Given the description of an element on the screen output the (x, y) to click on. 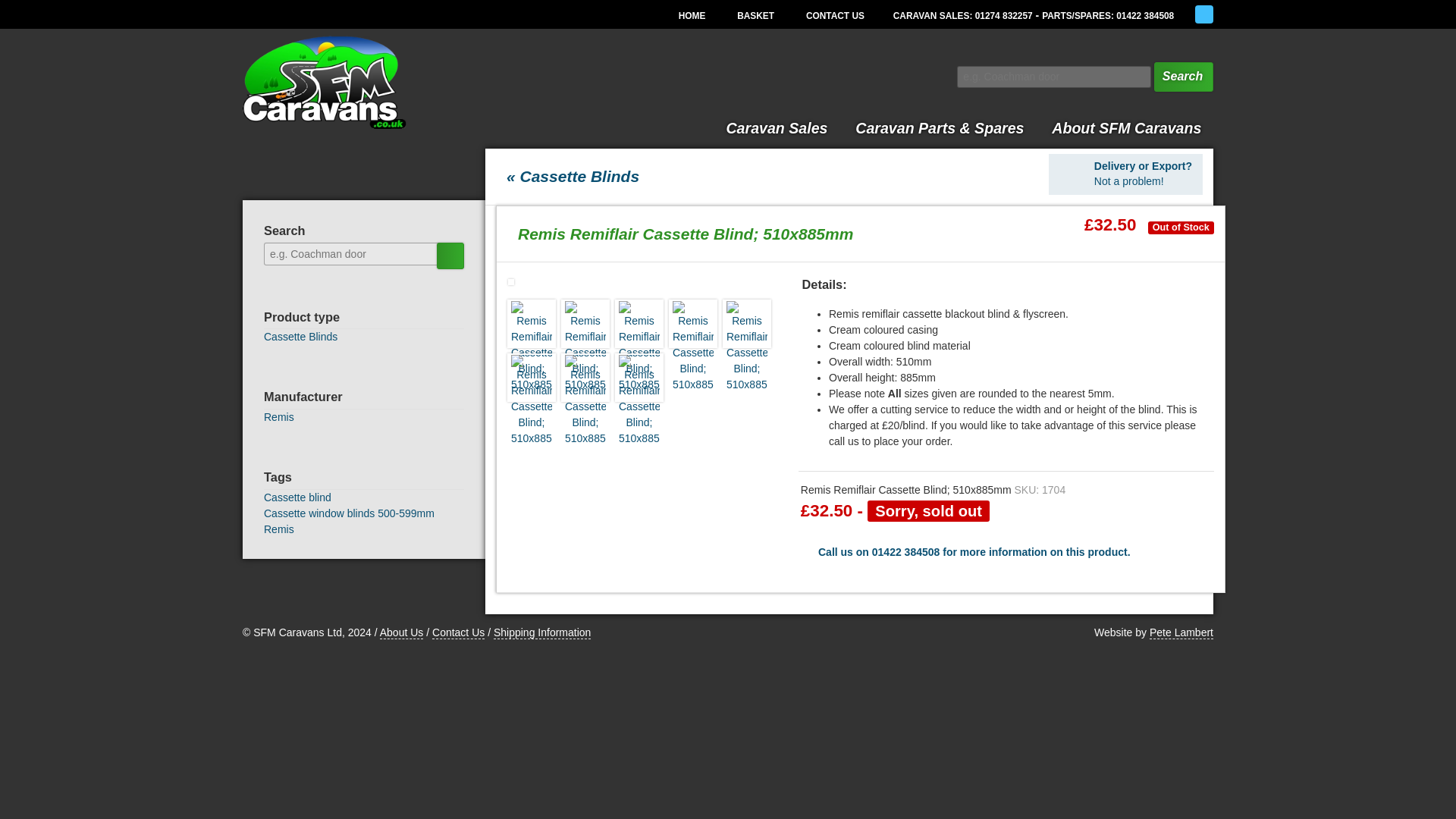
Remis Remiflair Cassette Blind; 510x885mm (585, 377)
Remis Remiflair Cassette Blind; 510x885mm (746, 323)
Remis Remiflair Cassette Blind; 510x885mm (585, 323)
Caravan Sales (777, 127)
Shipping Information (542, 632)
HOME (688, 15)
Pete Lambert (1181, 632)
Remis Remiflair Cassette Blind; 510x885mm (692, 323)
CARAVAN SALES: 01274 832257 (962, 15)
Cassette window blinds 500-599mm (348, 512)
